Given the description of an element on the screen output the (x, y) to click on. 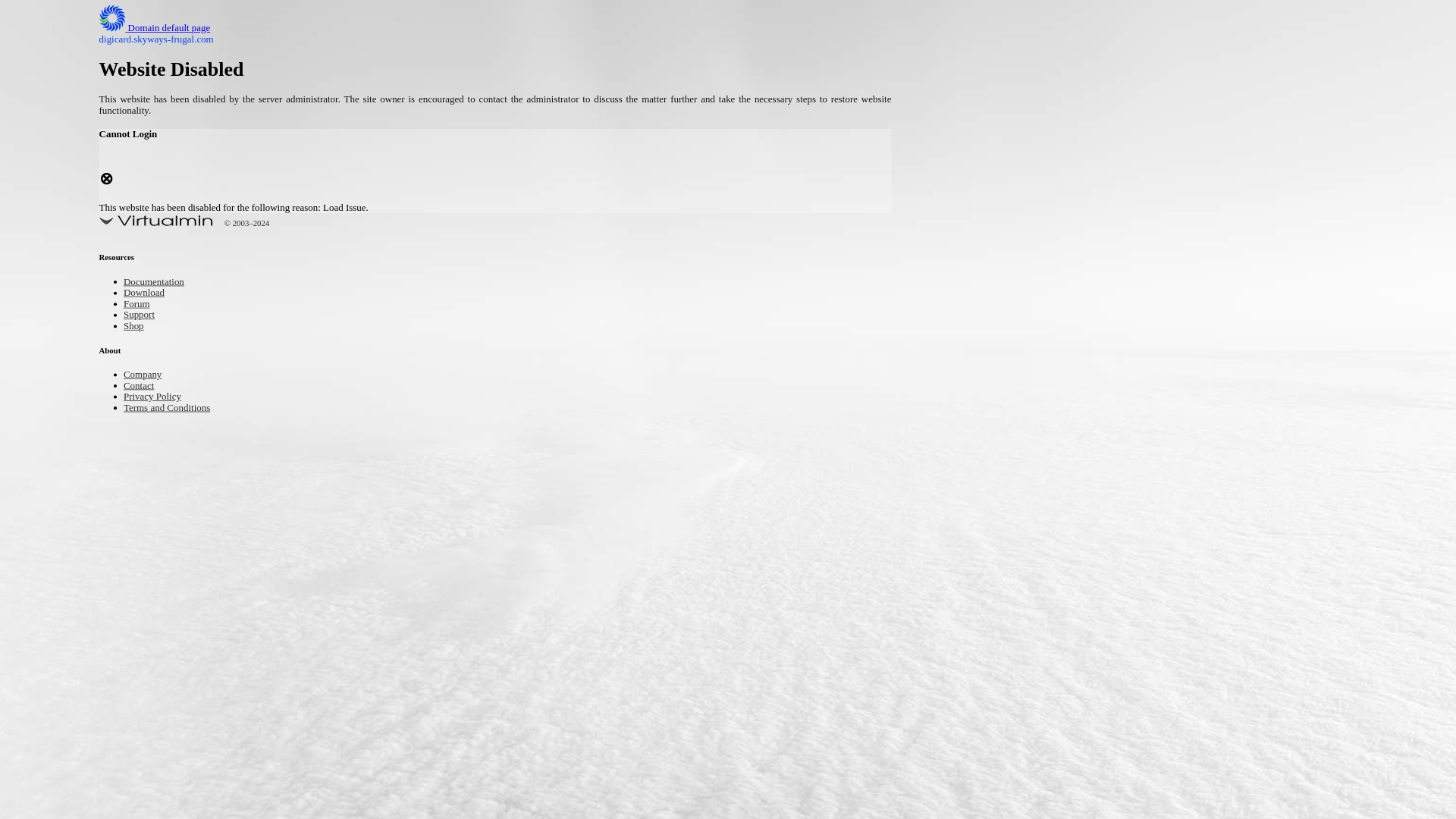
Contact (142, 386)
Download (148, 293)
Terms and Conditions (176, 408)
Domain default page (167, 29)
Company (146, 374)
Privacy Policy (159, 397)
Forum (139, 305)
Support (142, 315)
Documentation (160, 282)
Shop (135, 327)
